Given the description of an element on the screen output the (x, y) to click on. 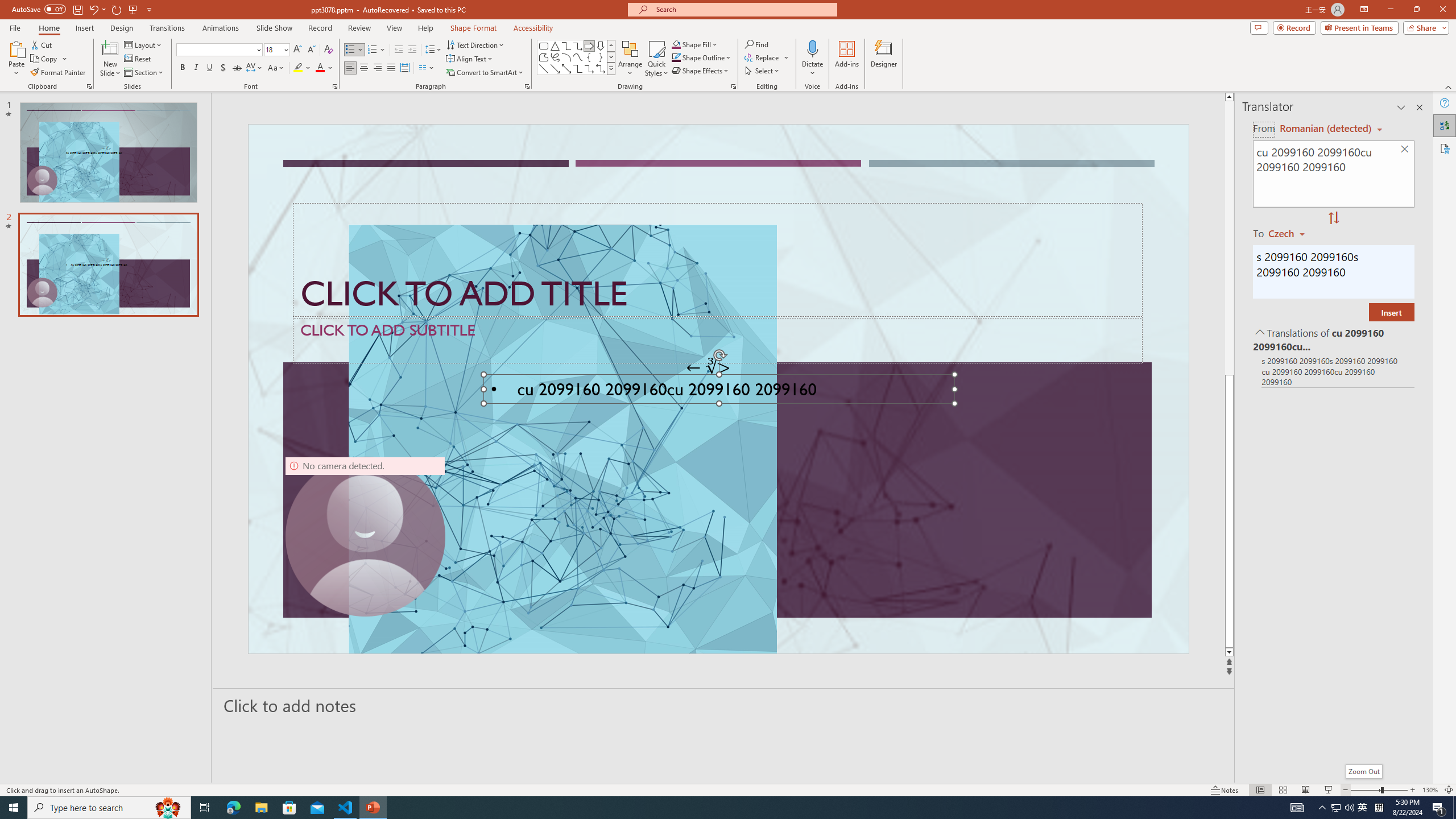
Line Arrow: Double (566, 68)
TextBox 61 (716, 391)
